Given the description of an element on the screen output the (x, y) to click on. 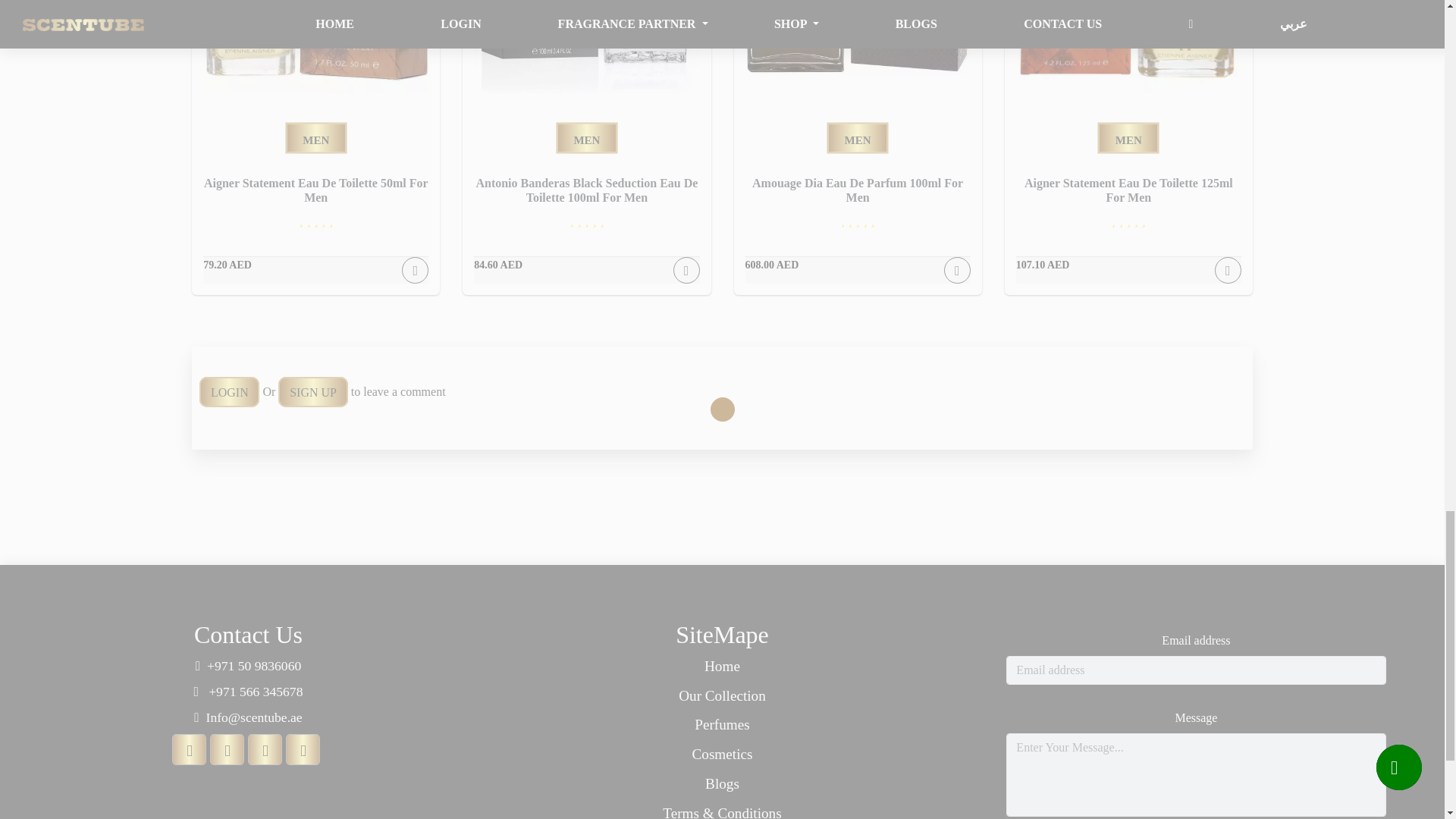
Cosmetics (721, 754)
Perfumes (721, 725)
Home (721, 667)
SIGN UP (312, 391)
Blogs (721, 784)
Our Collection (721, 696)
LOGIN (229, 391)
